Given the description of an element on the screen output the (x, y) to click on. 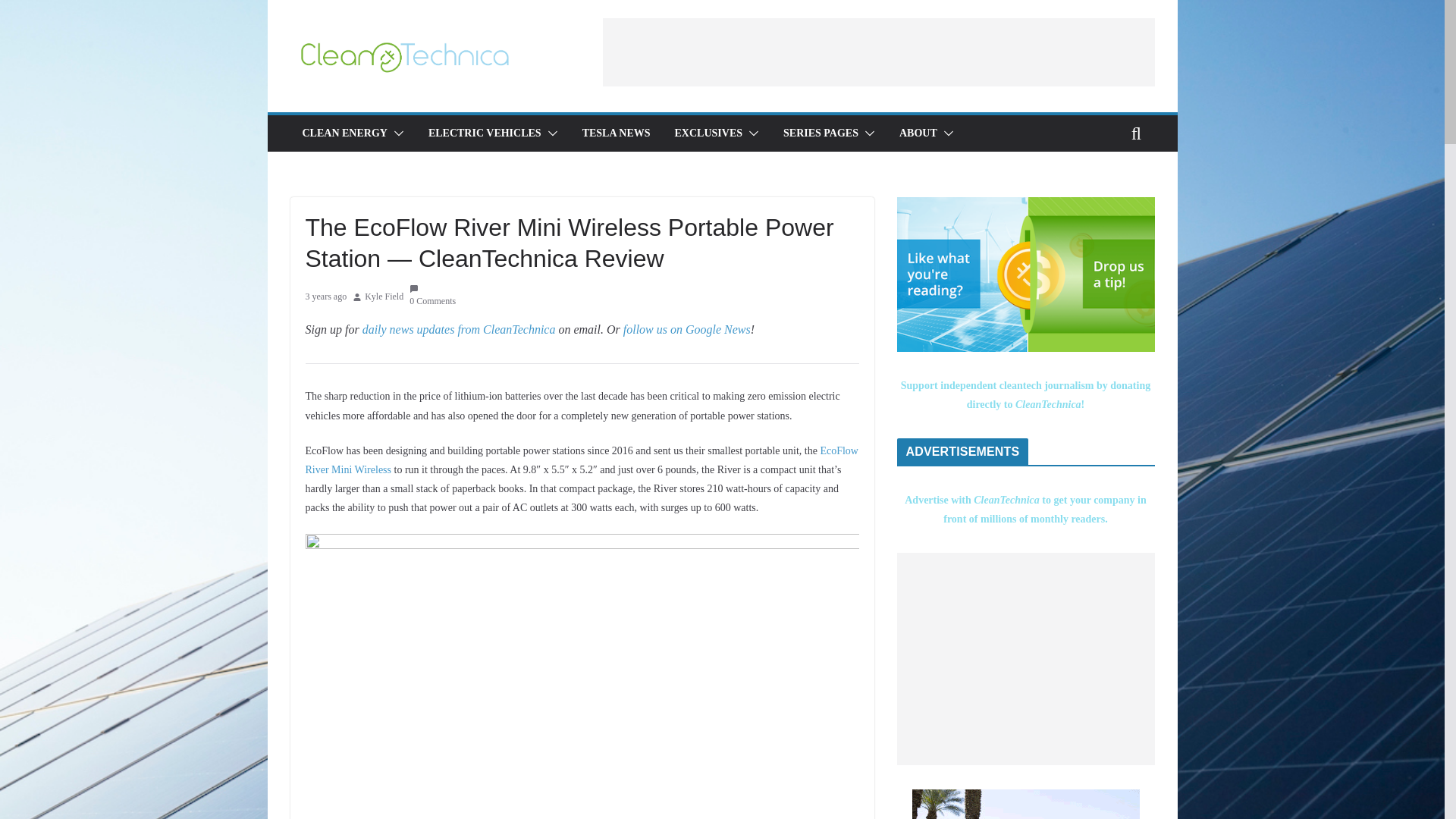
Advertisement (1025, 658)
EXCLUSIVES (708, 133)
SERIES PAGES (821, 133)
TESLA NEWS (616, 133)
Kyle Field (384, 297)
ELECTRIC VEHICLES (484, 133)
Advertisement (878, 52)
CLEAN ENERGY (344, 133)
